Given the description of an element on the screen output the (x, y) to click on. 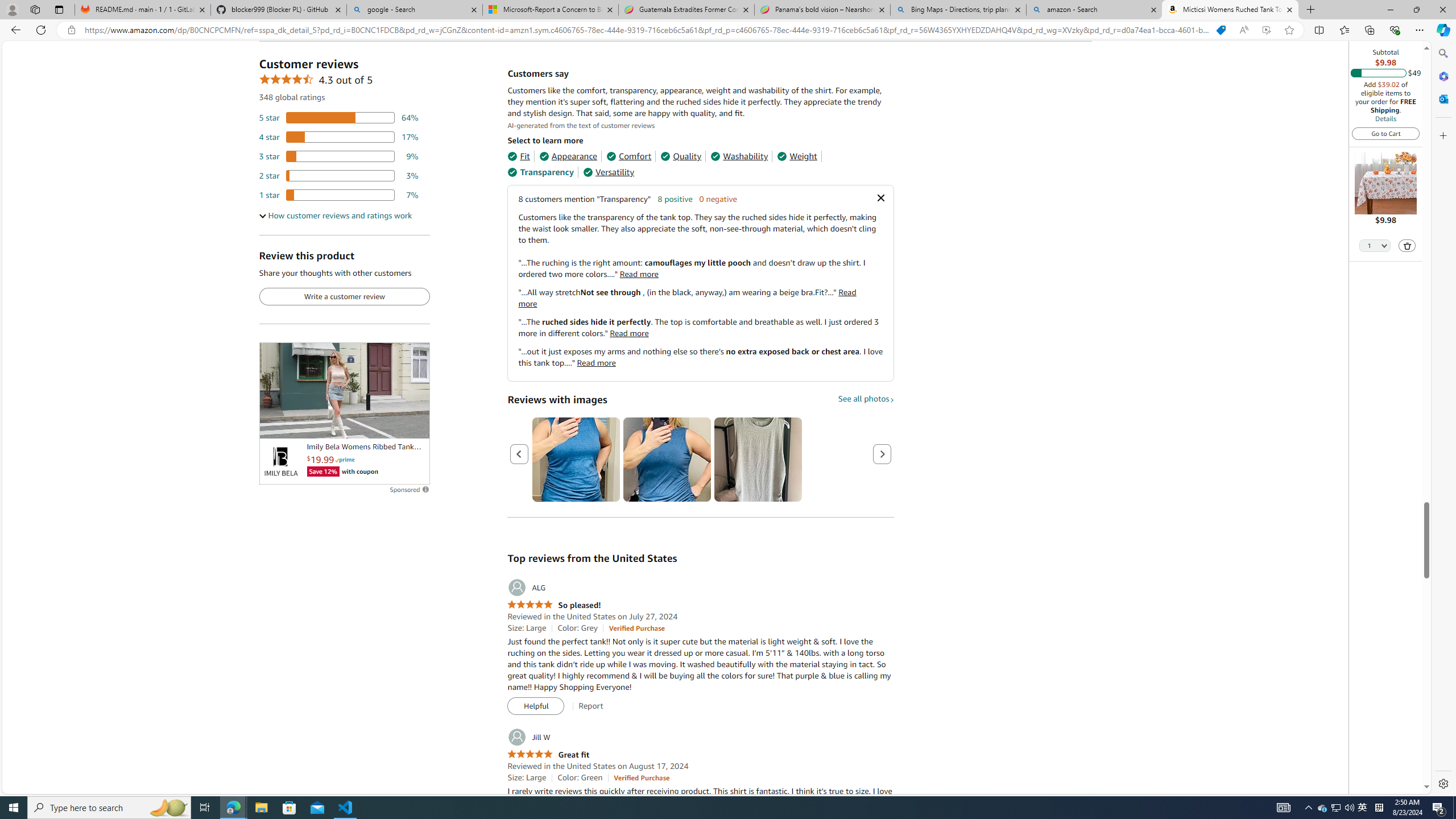
ALG (526, 587)
Report (590, 706)
Enhance video (1266, 29)
Prime (344, 459)
Read more (595, 362)
5.0 out of 5 stars So pleased! (553, 605)
See all photos (865, 398)
Class: a-carousel-card (757, 459)
Weight (796, 156)
Comfort (628, 156)
